Given the description of an element on the screen output the (x, y) to click on. 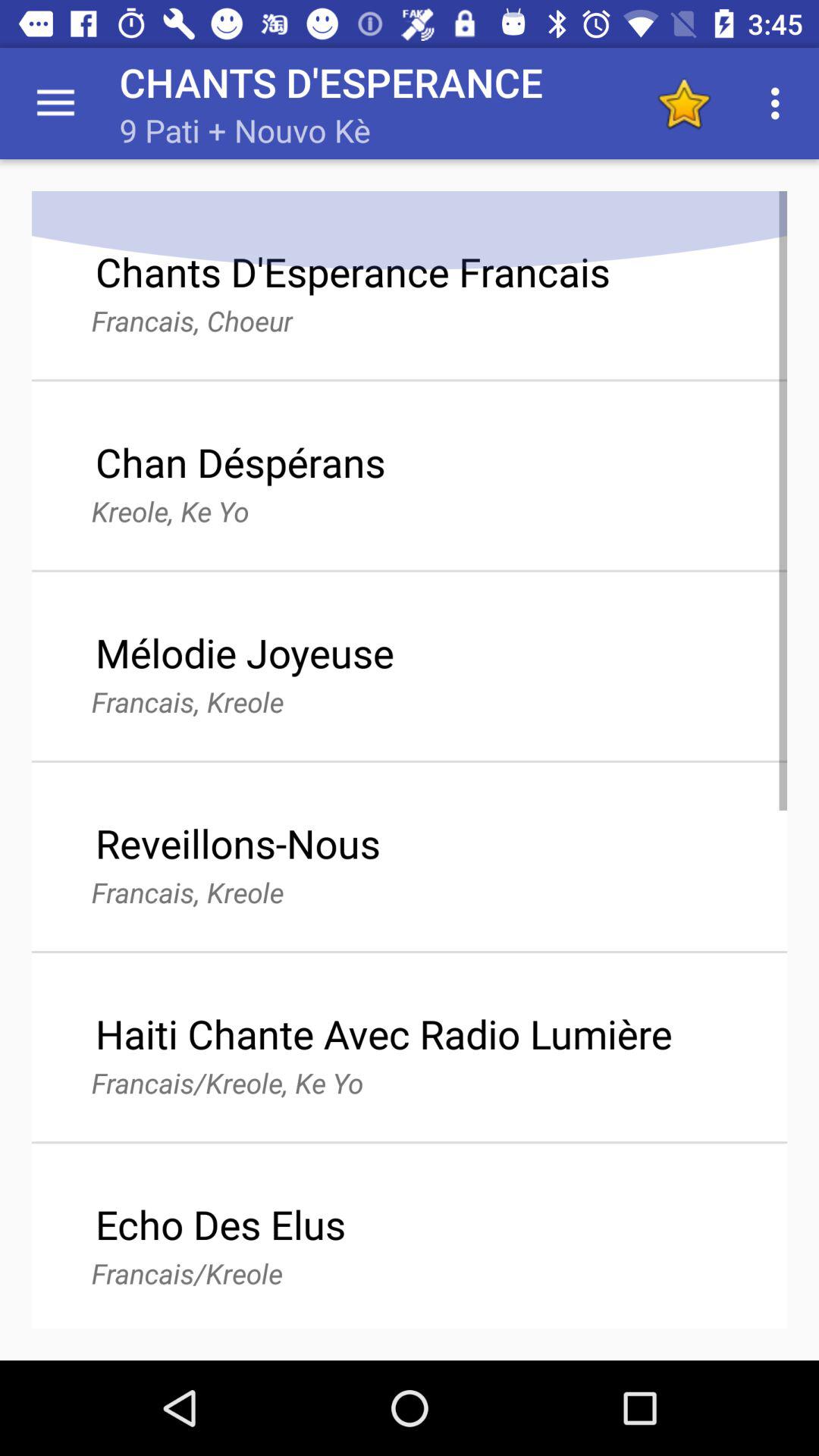
tap the app next to the chants d'esperance app (55, 103)
